Given the description of an element on the screen output the (x, y) to click on. 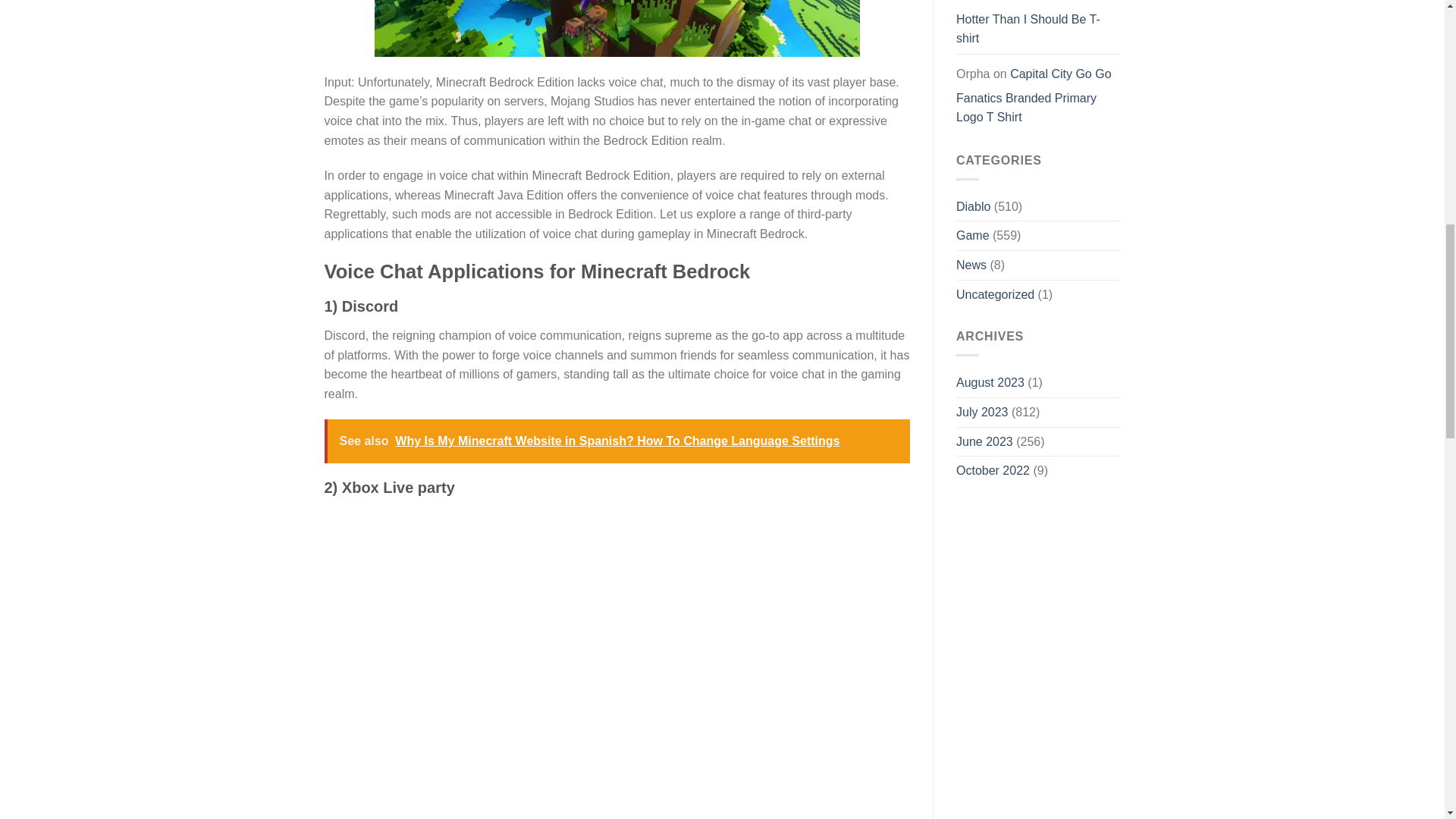
Selena Gomez Hotter Than I Should Be T-shirt (1028, 24)
Capital City Go Go Fanatics Branded Primary Logo T Shirt (1034, 95)
